Given the description of an element on the screen output the (x, y) to click on. 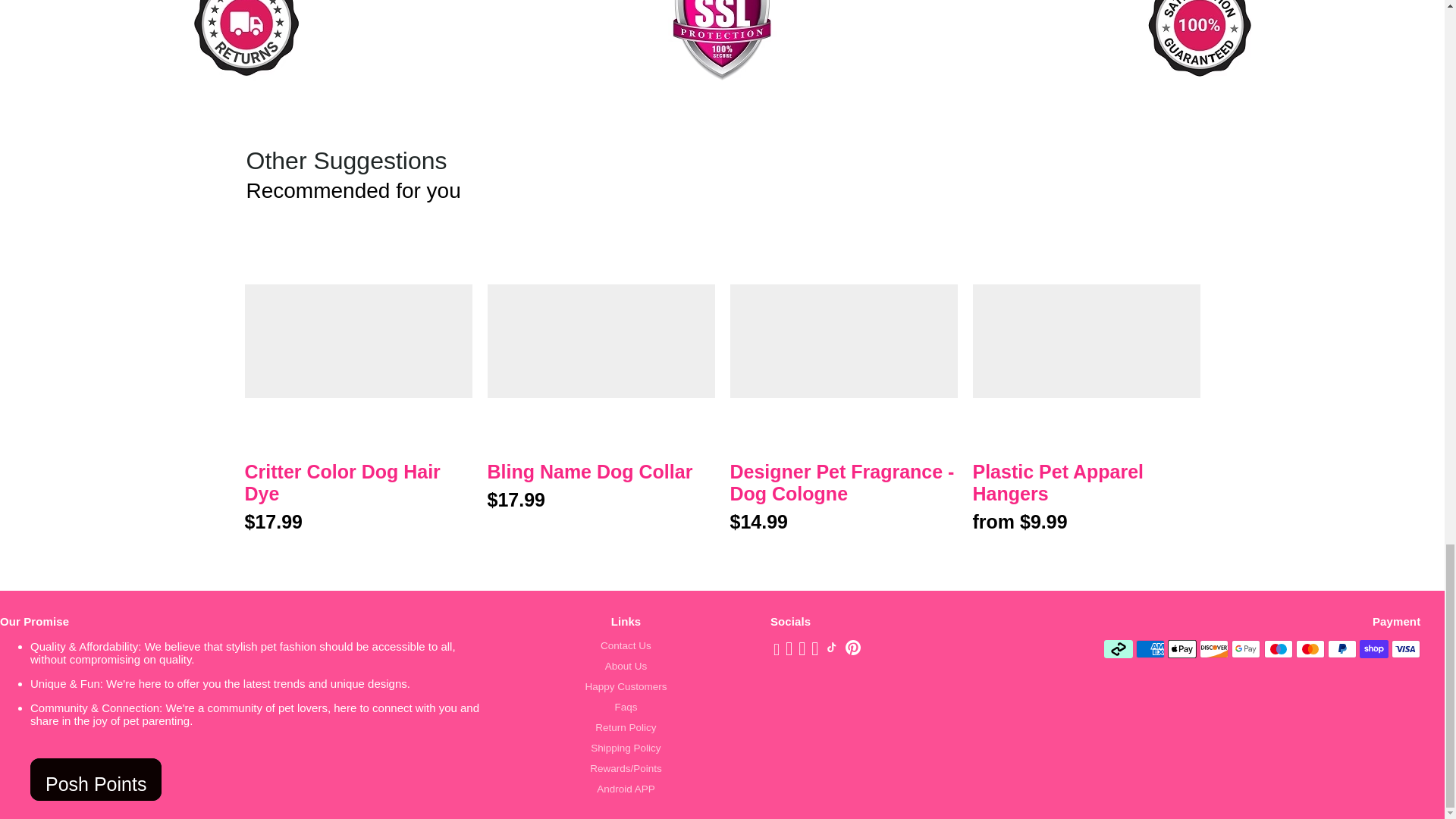
Discover (1213, 648)
Mastercard (1309, 648)
Afterpay (1117, 648)
Google Pay (1245, 648)
Maestro (1277, 648)
American Express (1149, 648)
PayPal (1341, 648)
Apple Pay (1181, 648)
Shop Pay (1374, 648)
Visa (1406, 648)
